Given the description of an element on the screen output the (x, y) to click on. 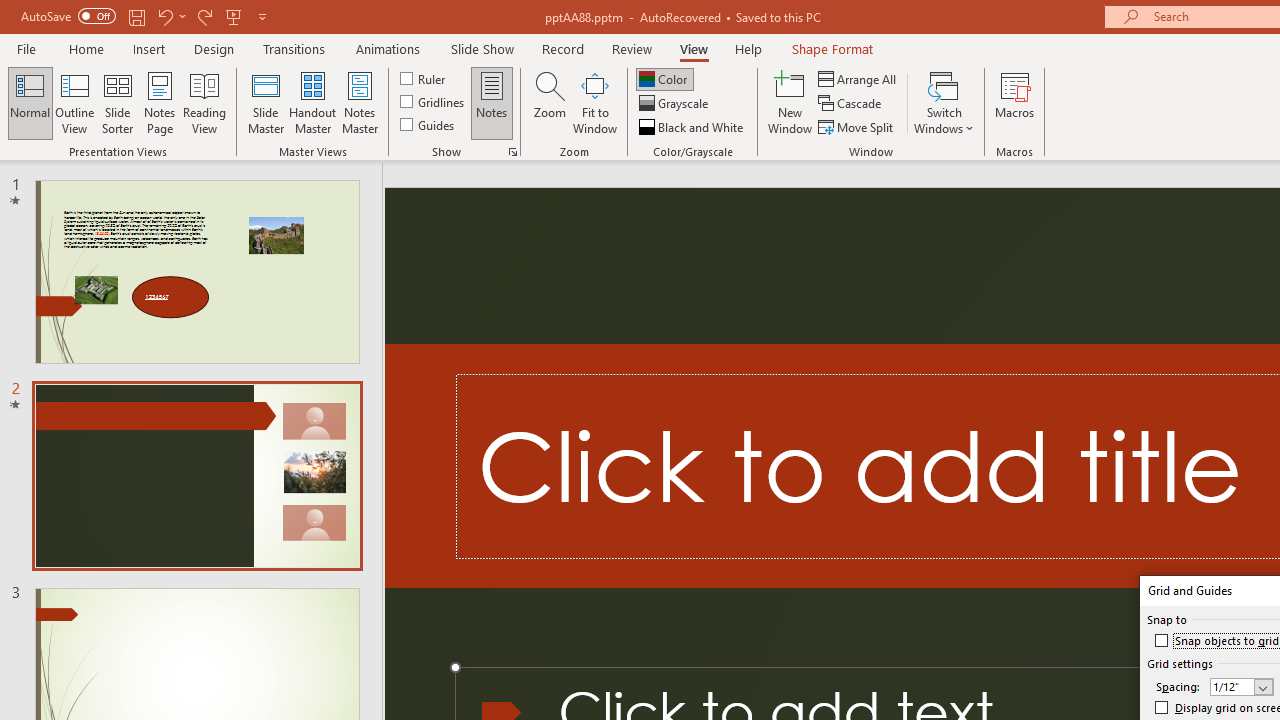
Handout Master (312, 102)
Grayscale (675, 103)
Ruler (423, 78)
Arrange All (858, 78)
Switch Windows (943, 102)
